Given the description of an element on the screen output the (x, y) to click on. 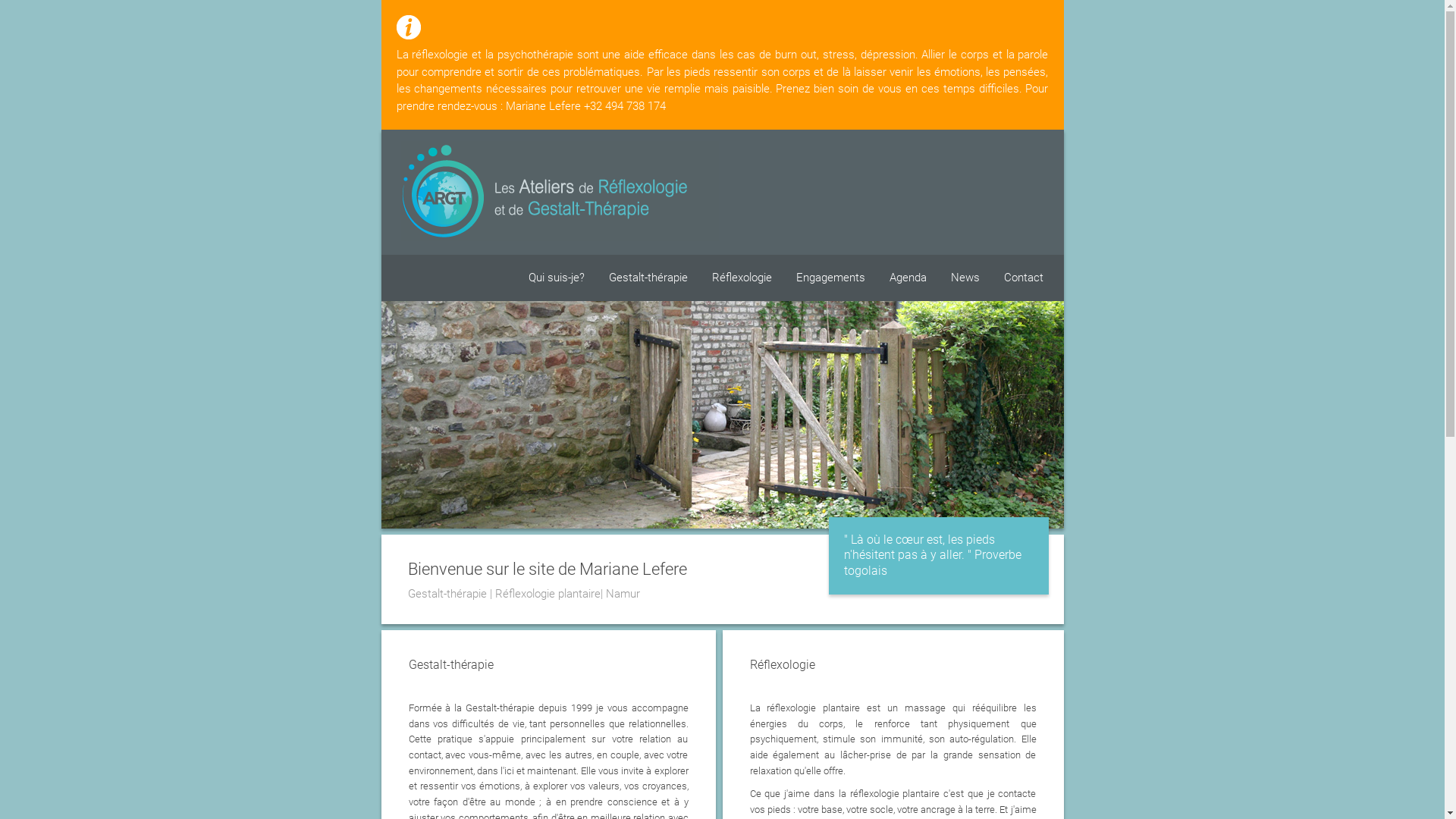
Agenda Element type: text (908, 277)
Contact Element type: text (1022, 277)
Qui suis-je? Element type: text (556, 277)
Page Accueil Element type: hover (556, 190)
News Element type: text (964, 277)
Aller au contenu principal Element type: text (696, 2)
